Given the description of an element on the screen output the (x, y) to click on. 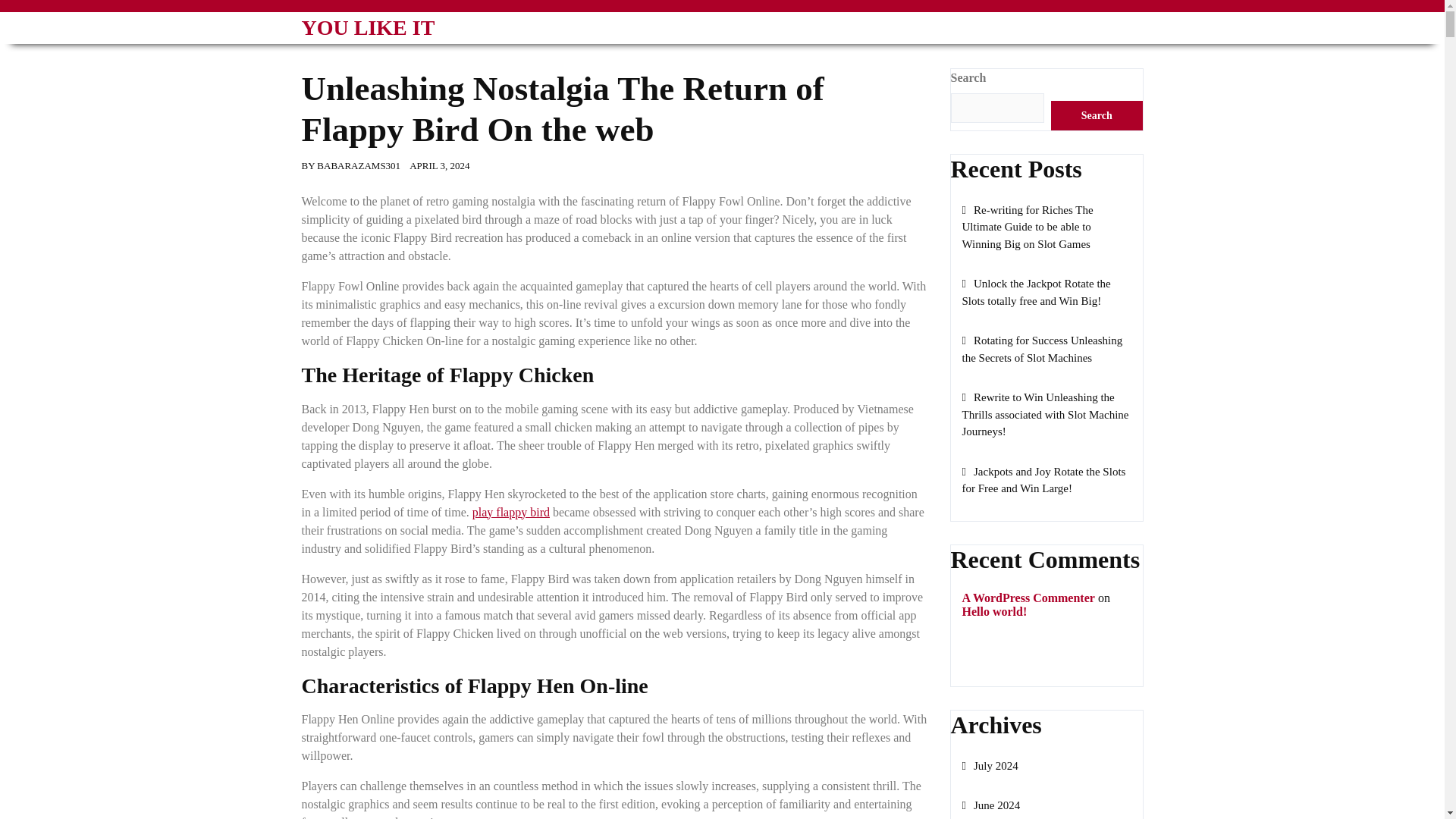
A WordPress Commenter (1027, 597)
Jackpots and Joy Rotate the Slots for Free and Win Large! (1042, 480)
BABARAZAMS301 (358, 165)
July 2024 (988, 766)
Search (1096, 115)
Hello world! (993, 611)
Rotating for Success Unleashing the Secrets of Slot Machines (1041, 348)
YOU LIKE IT (368, 27)
play flappy bird (510, 512)
June 2024 (990, 805)
